Given the description of an element on the screen output the (x, y) to click on. 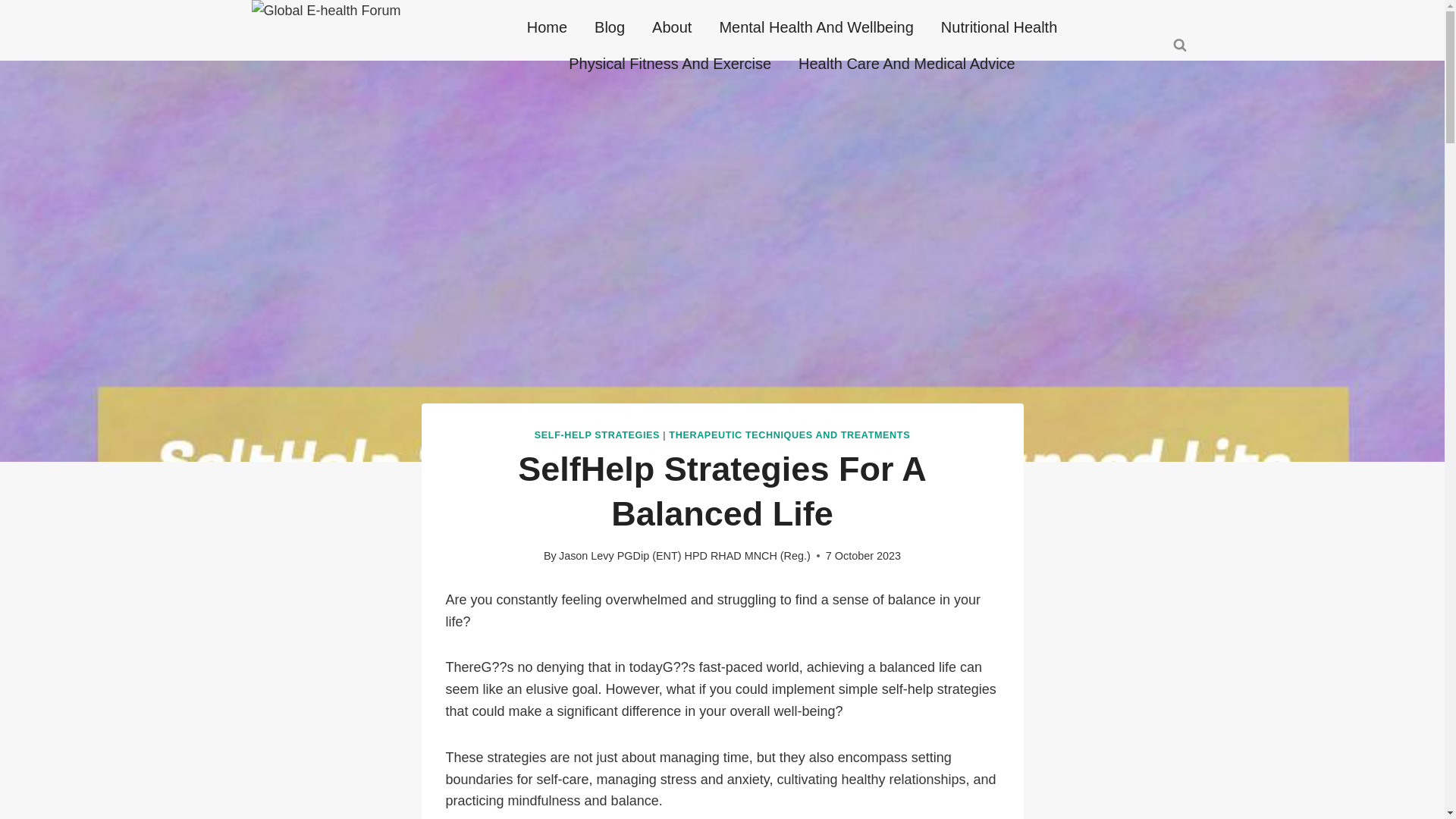
About (671, 27)
Health Care And Medical Advice (906, 63)
Home (546, 27)
THERAPEUTIC TECHNIQUES AND TREATMENTS (789, 434)
Blog (609, 27)
Physical Fitness And Exercise (669, 63)
SELF-HELP STRATEGIES (596, 434)
Mental Health And Wellbeing (815, 27)
Nutritional Health (998, 27)
